Given the description of an element on the screen output the (x, y) to click on. 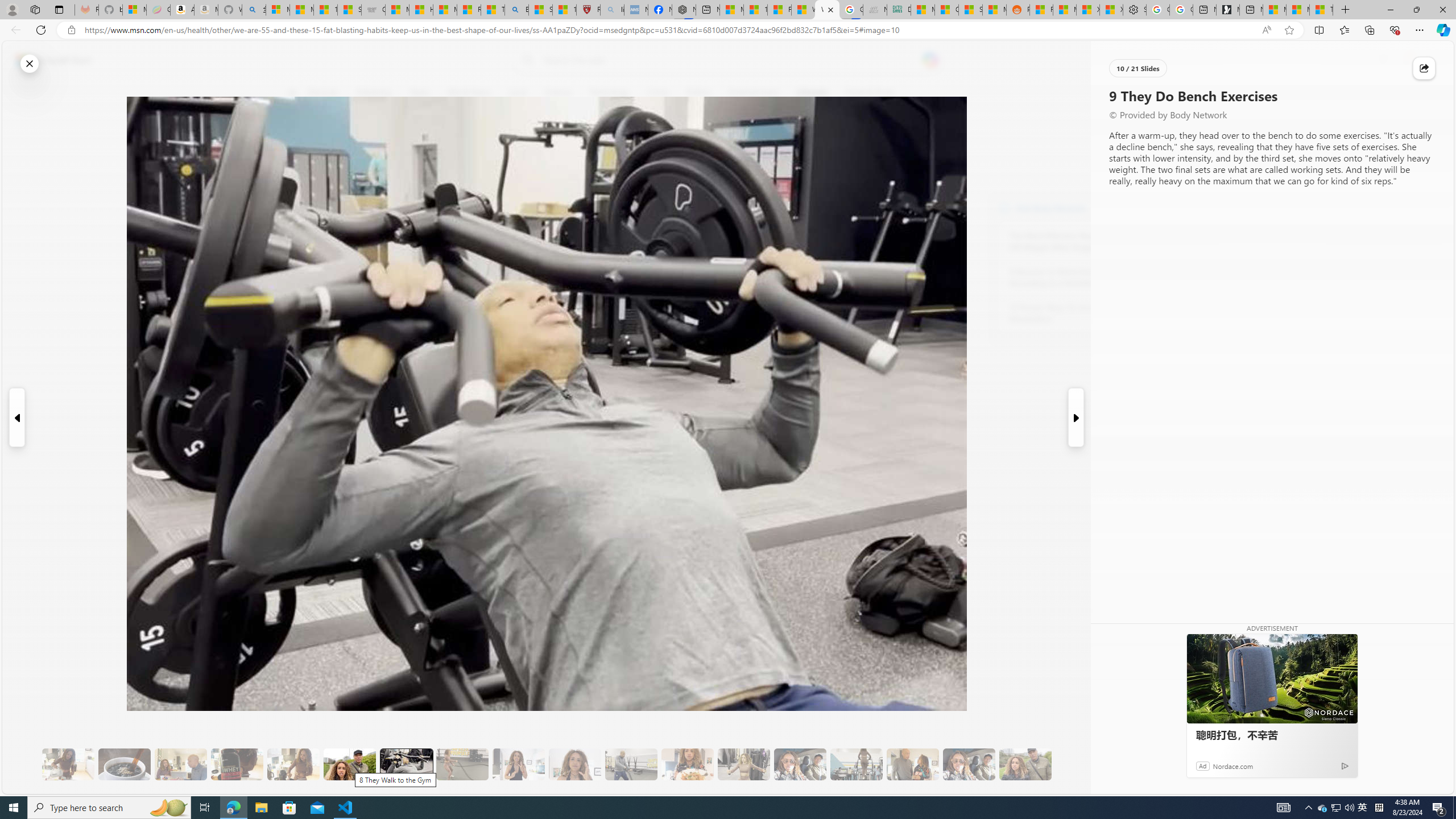
13 Her Husband Does Group Cardio Classs (631, 764)
19 It Also Simplifies Thiings (968, 764)
Visit Body Network website (1145, 207)
8 Be Mindful of Coffee (124, 764)
Recipes - MSN (469, 9)
Crime (657, 92)
12 Proven Ways To Increase Your Metabolism (1071, 313)
Next Slide (1076, 417)
12 Popular Science Lies that Must be Corrected (563, 9)
Robert H. Shmerling, MD - Harvard Health (588, 9)
